Given the description of an element on the screen output the (x, y) to click on. 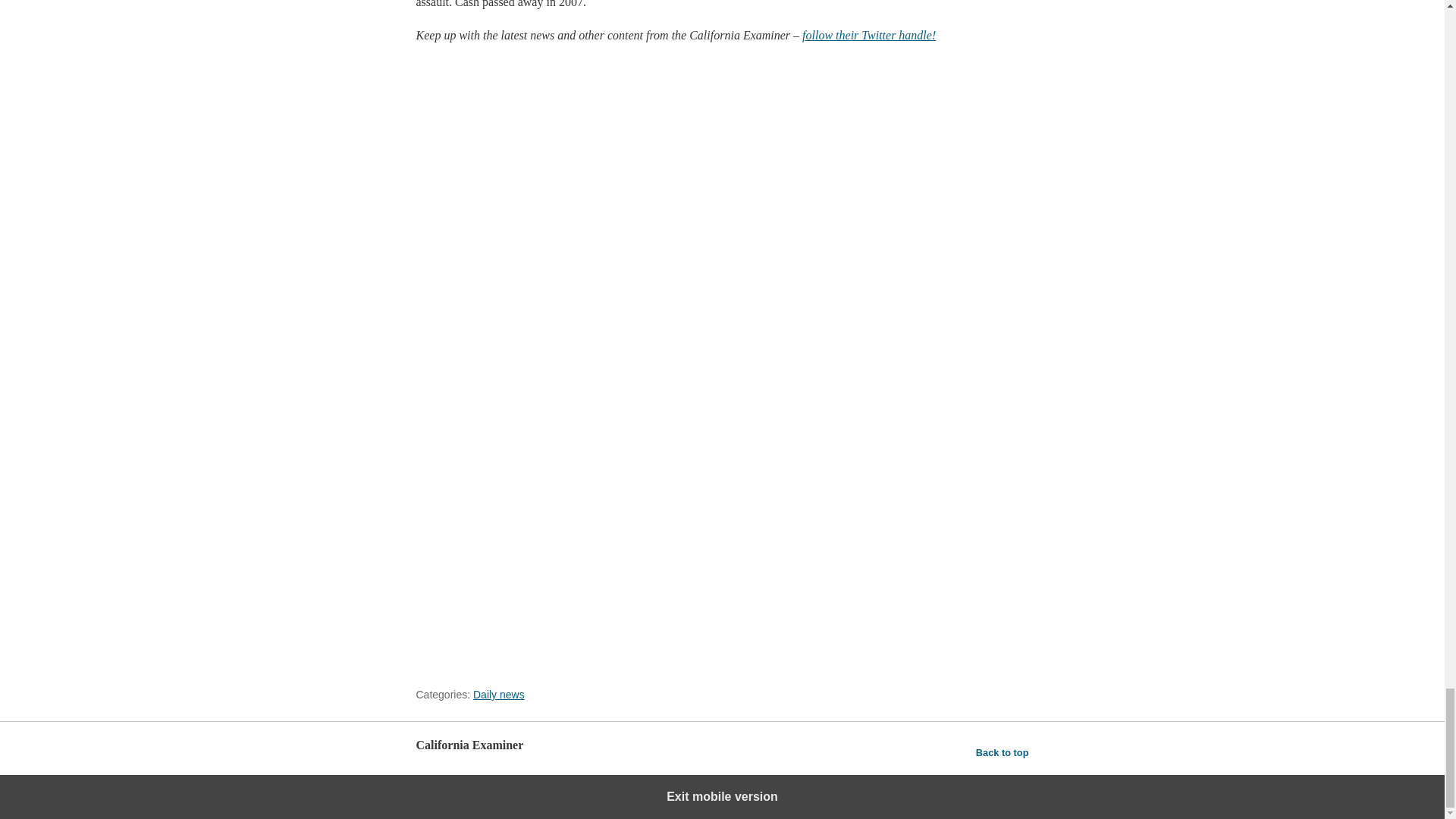
Daily news (498, 694)
Back to top (1002, 752)
follow their Twitter handle! (869, 34)
